Given the description of an element on the screen output the (x, y) to click on. 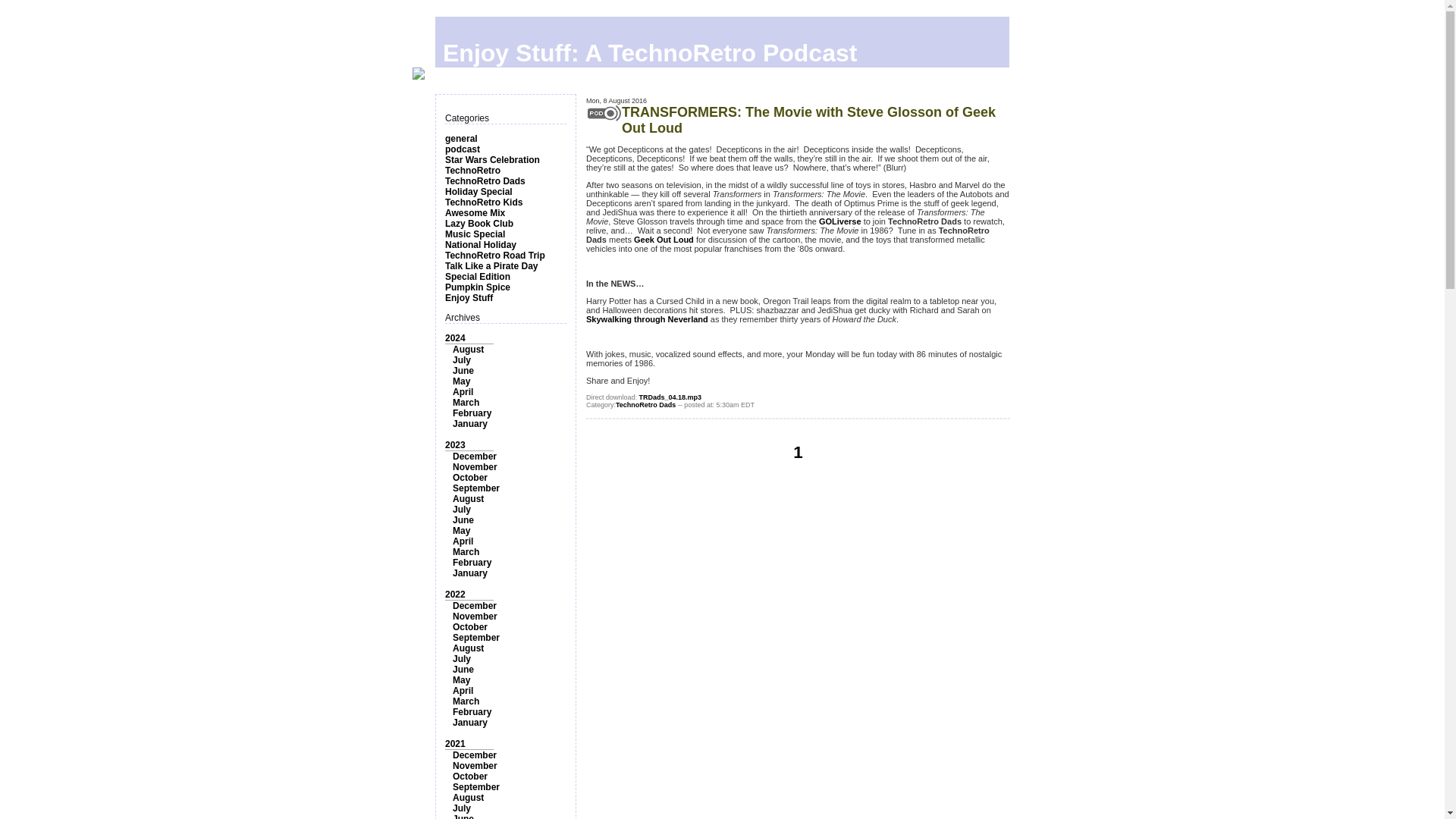
May (461, 530)
Star Wars Celebration (492, 159)
January (469, 573)
September (475, 488)
Special Edition (478, 276)
April (462, 391)
Enjoy Stuff (469, 297)
2022 (455, 593)
TechnoRetro (472, 170)
August (467, 348)
